Given the description of an element on the screen output the (x, y) to click on. 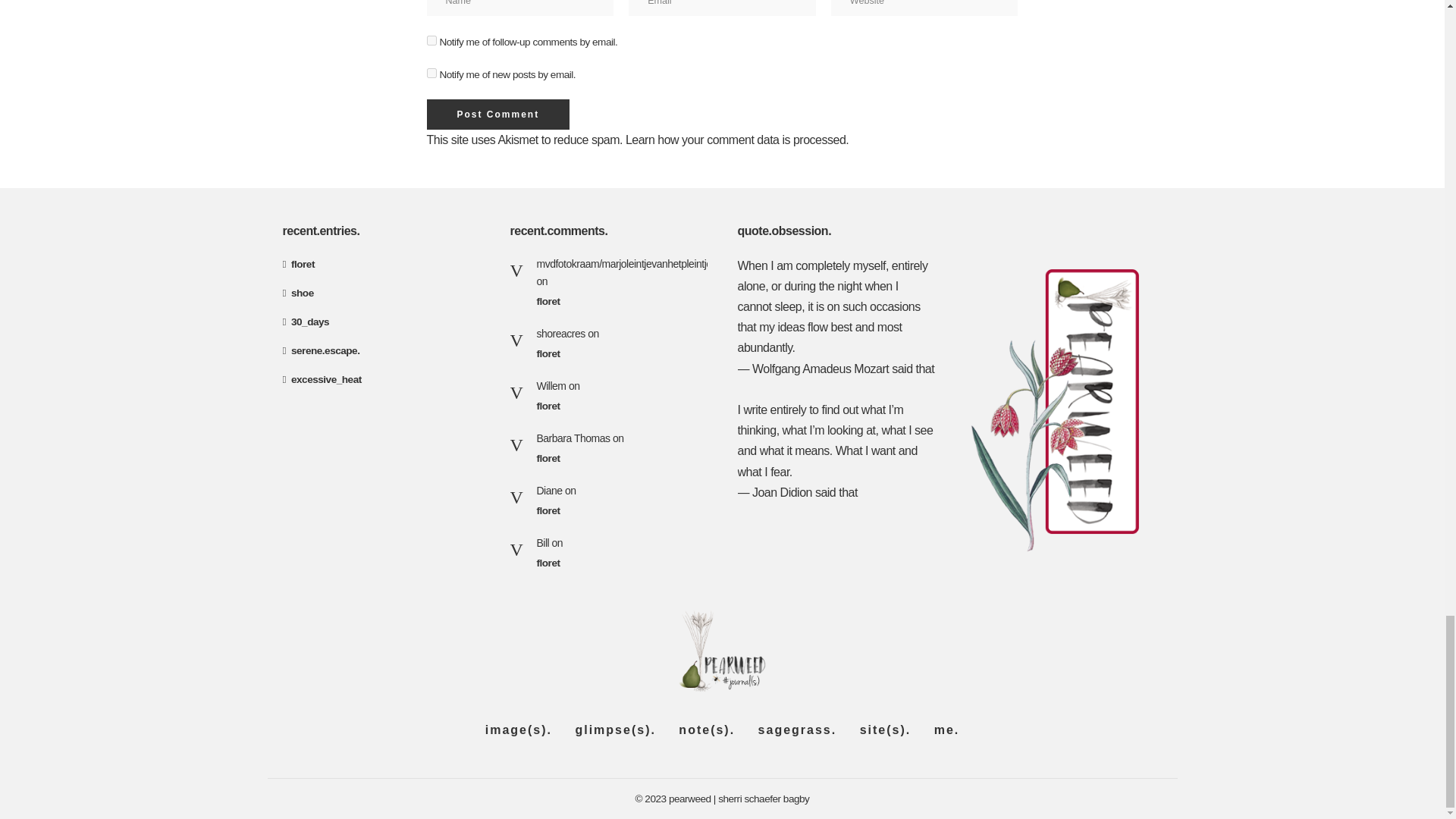
subscribe (430, 40)
subscribe (430, 72)
Post Comment (497, 114)
